Given the description of an element on the screen output the (x, y) to click on. 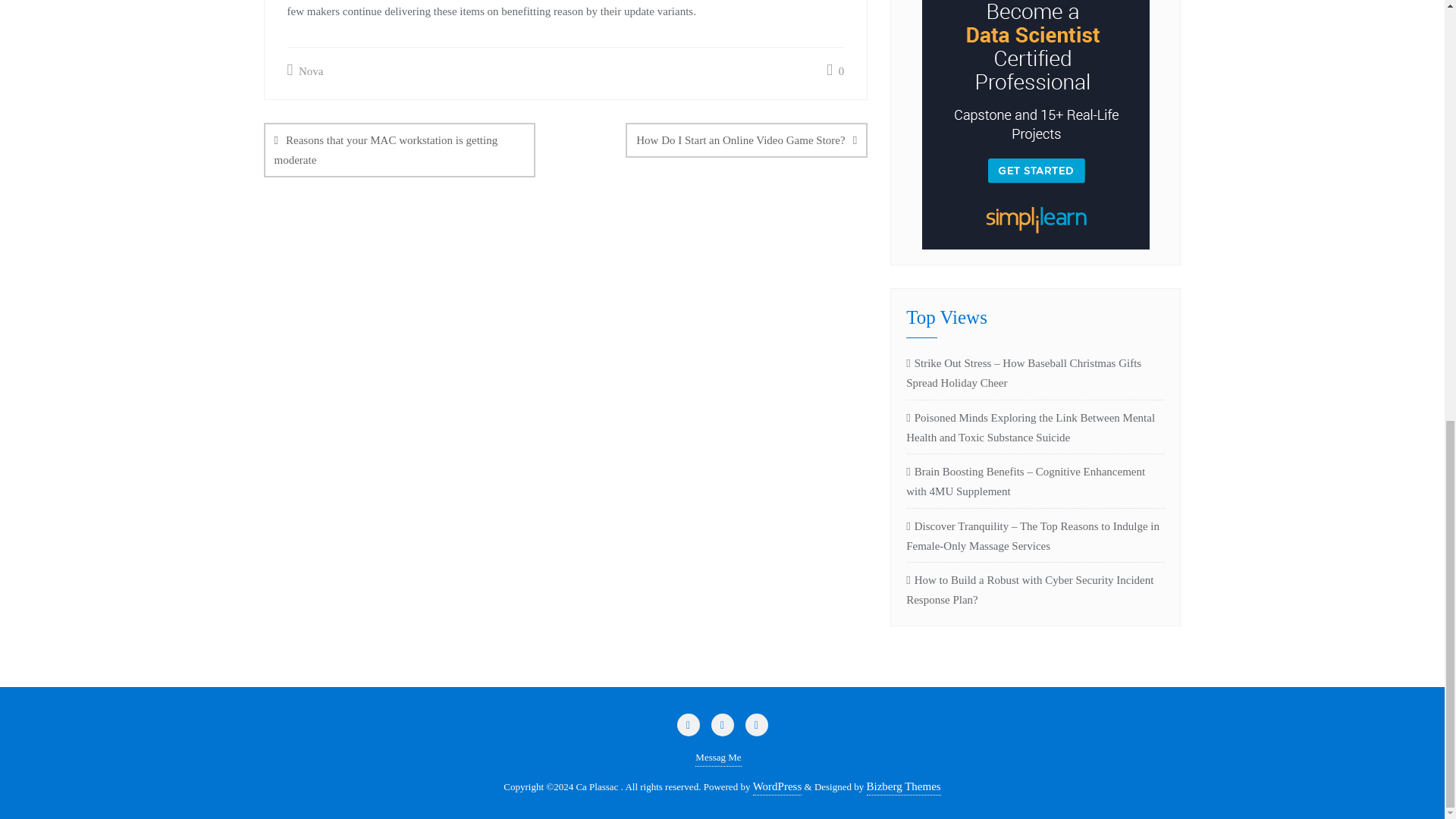
Reasons that your MAC workstation is getting moderate (399, 150)
How Do I Start an Online Video Game Store? (746, 140)
Bizberg Themes (903, 786)
WordPress (777, 786)
Messag Me (718, 757)
Nova (304, 71)
